Given the description of an element on the screen output the (x, y) to click on. 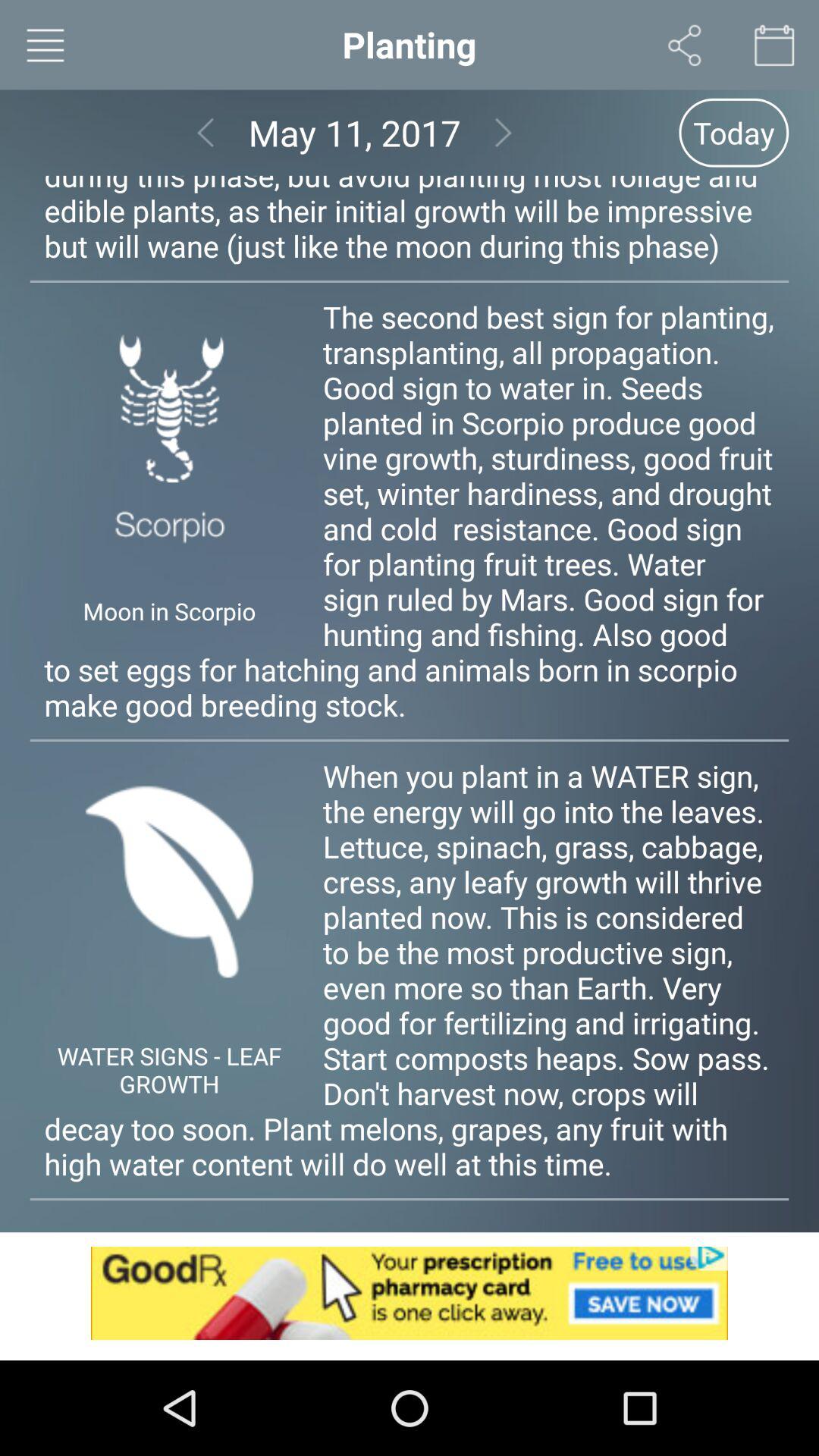
go to previous calendar page (205, 132)
